Given the description of an element on the screen output the (x, y) to click on. 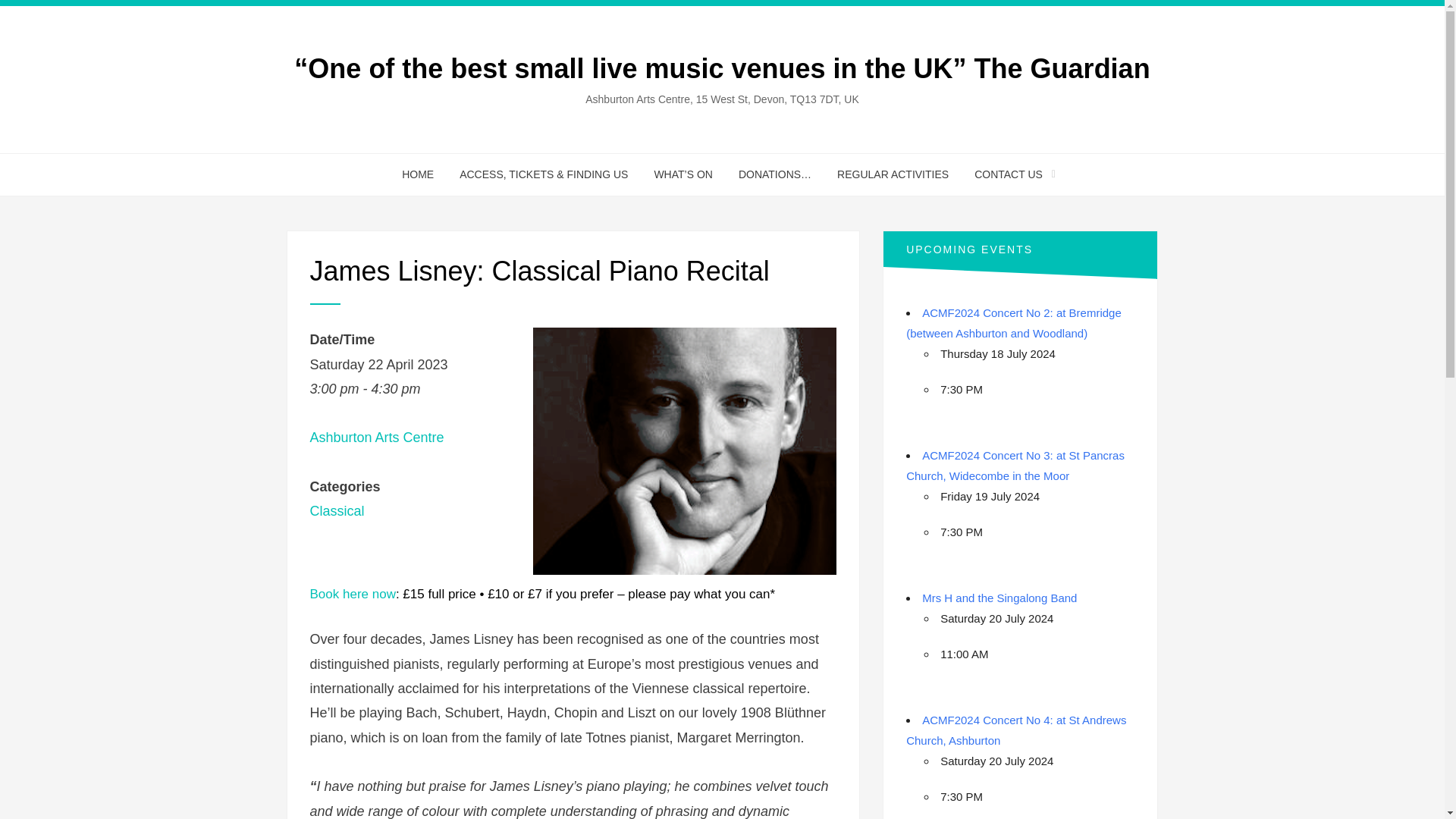
CONTACT US (1007, 174)
REGULAR ACTIVITIES (892, 174)
Classical (336, 510)
ACMF2024 Concert No 4: at St Andrews Church, Ashburton (1015, 729)
Mrs H and the Singalong Band (999, 597)
Ashburton Arts Centre (376, 437)
HOME (417, 174)
Book here now (351, 594)
